Given the description of an element on the screen output the (x, y) to click on. 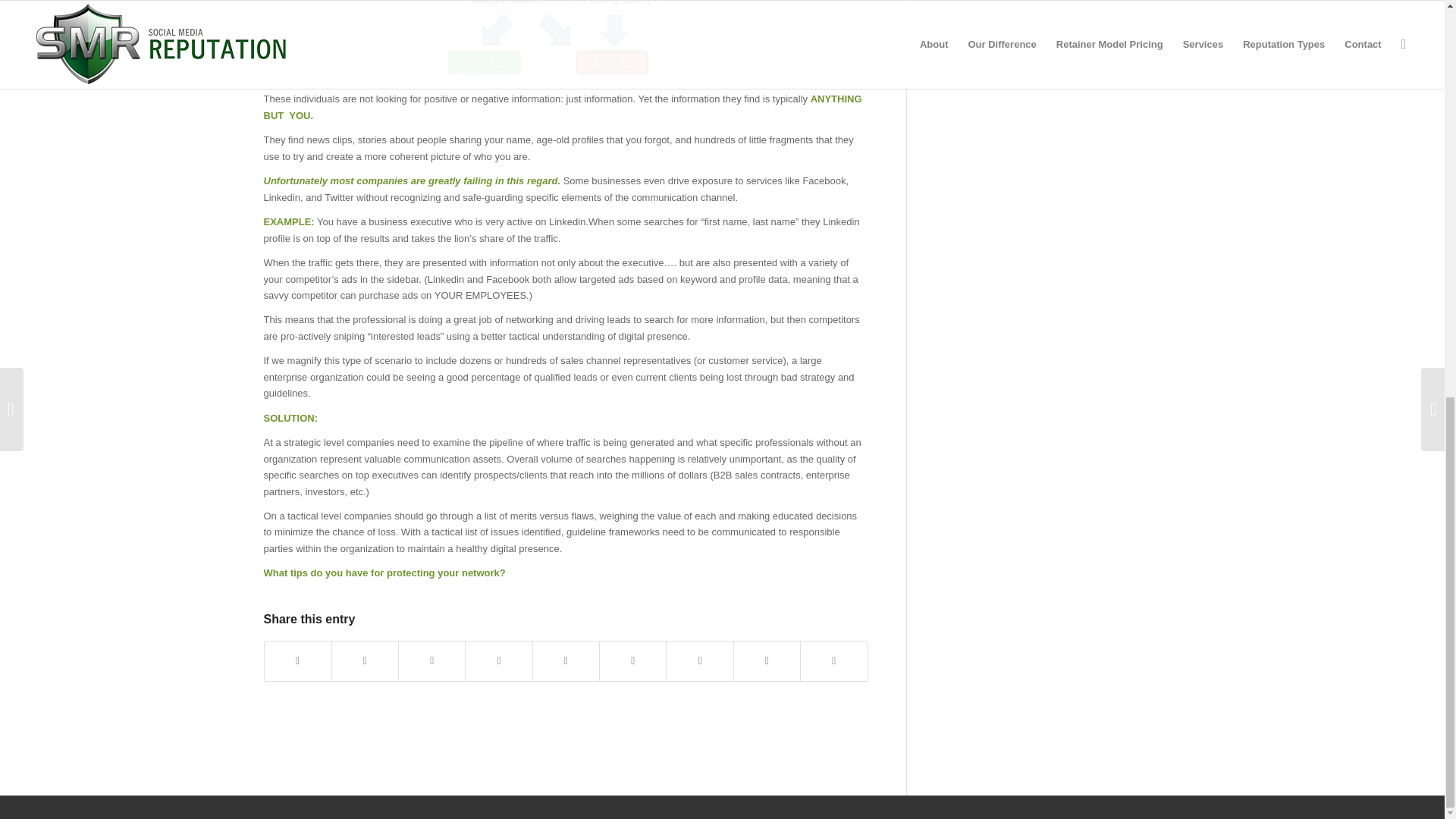
socialmediareputation (565, 41)
